Given the description of an element on the screen output the (x, y) to click on. 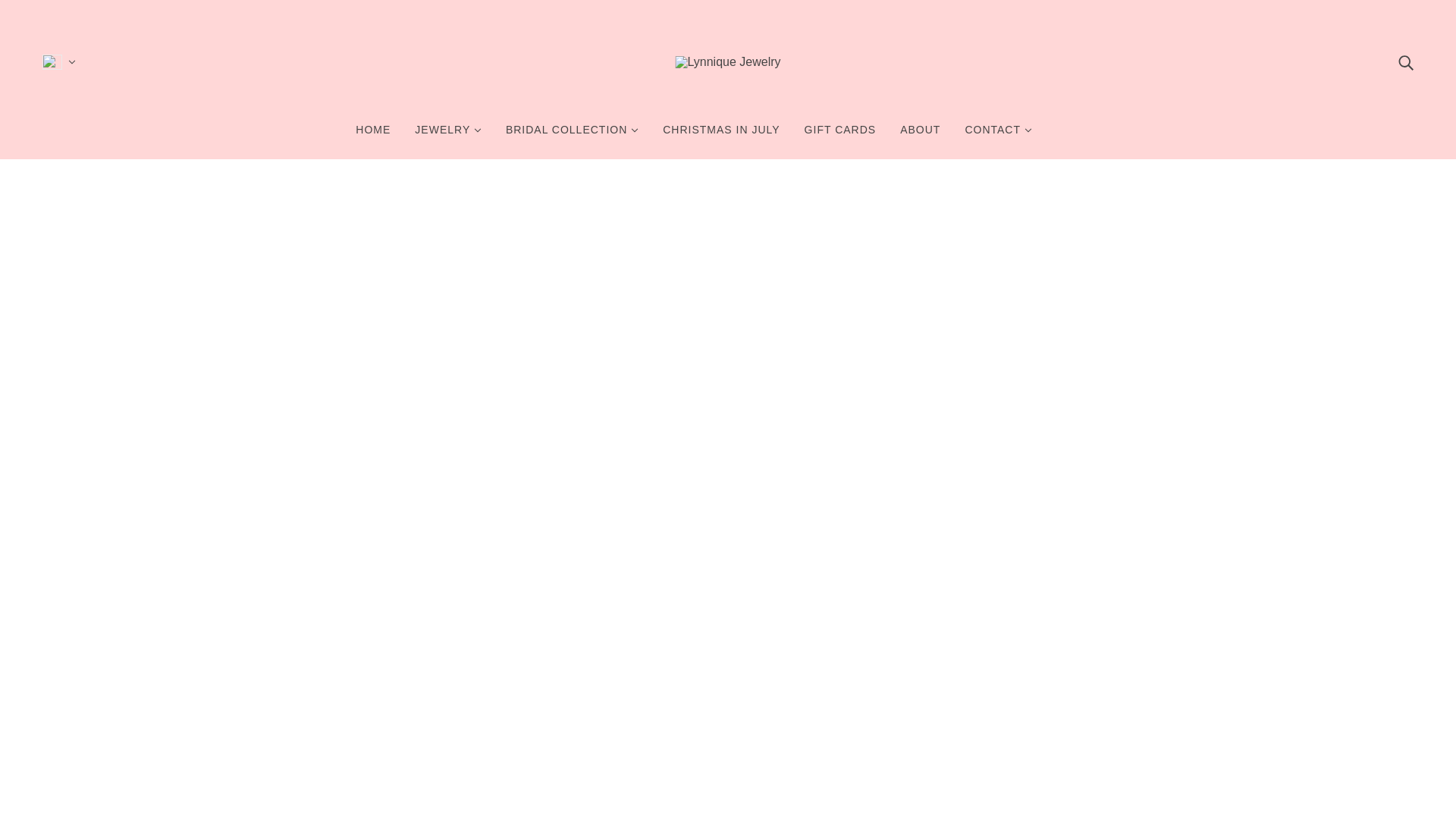
Lynnique Jewelry (727, 61)
